Given the description of an element on the screen output the (x, y) to click on. 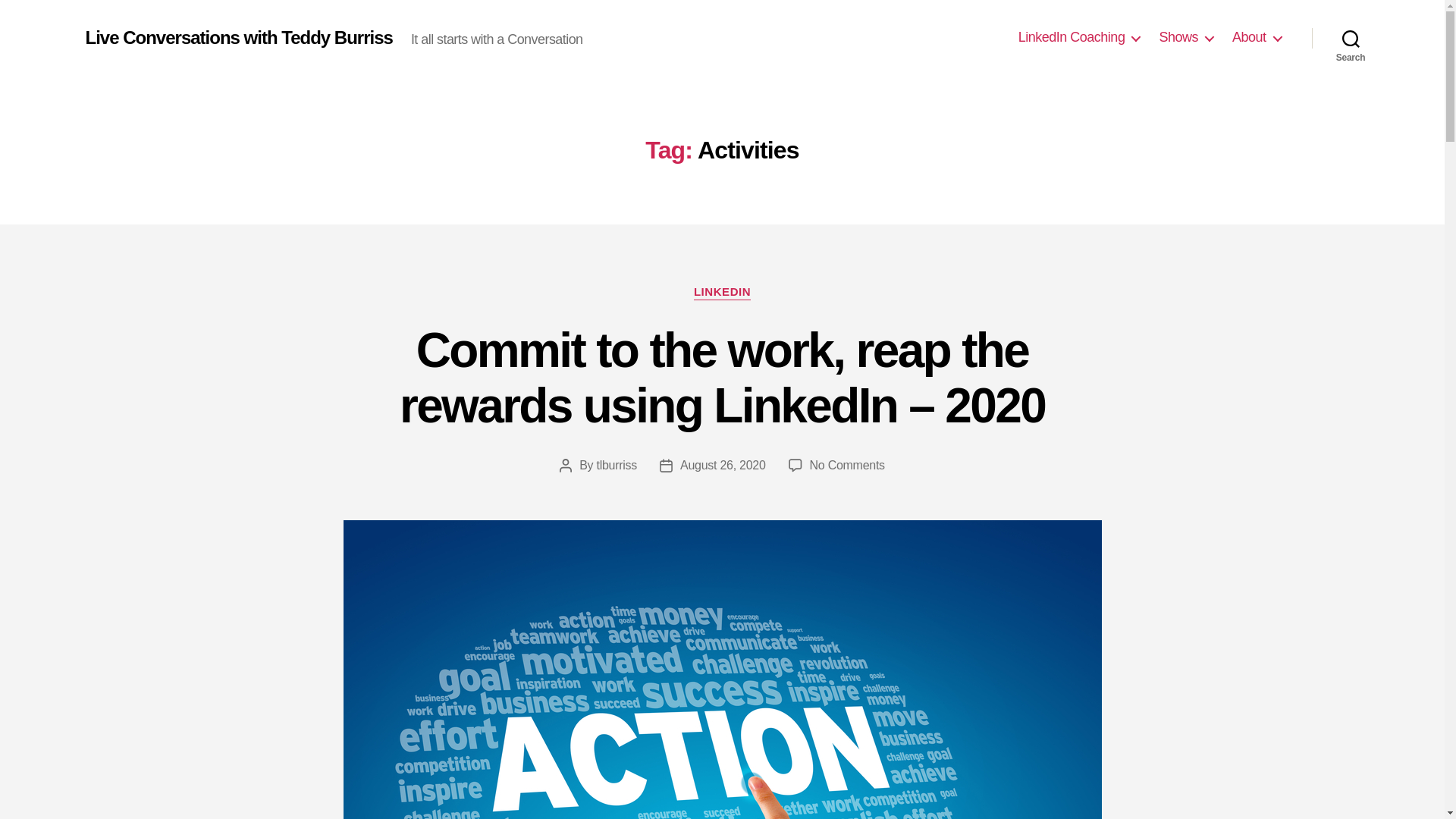
About (1256, 37)
Search (1350, 37)
Live Conversations with Teddy Burriss (237, 37)
LinkedIn Coaching (1078, 37)
Shows (1185, 37)
